Given the description of an element on the screen output the (x, y) to click on. 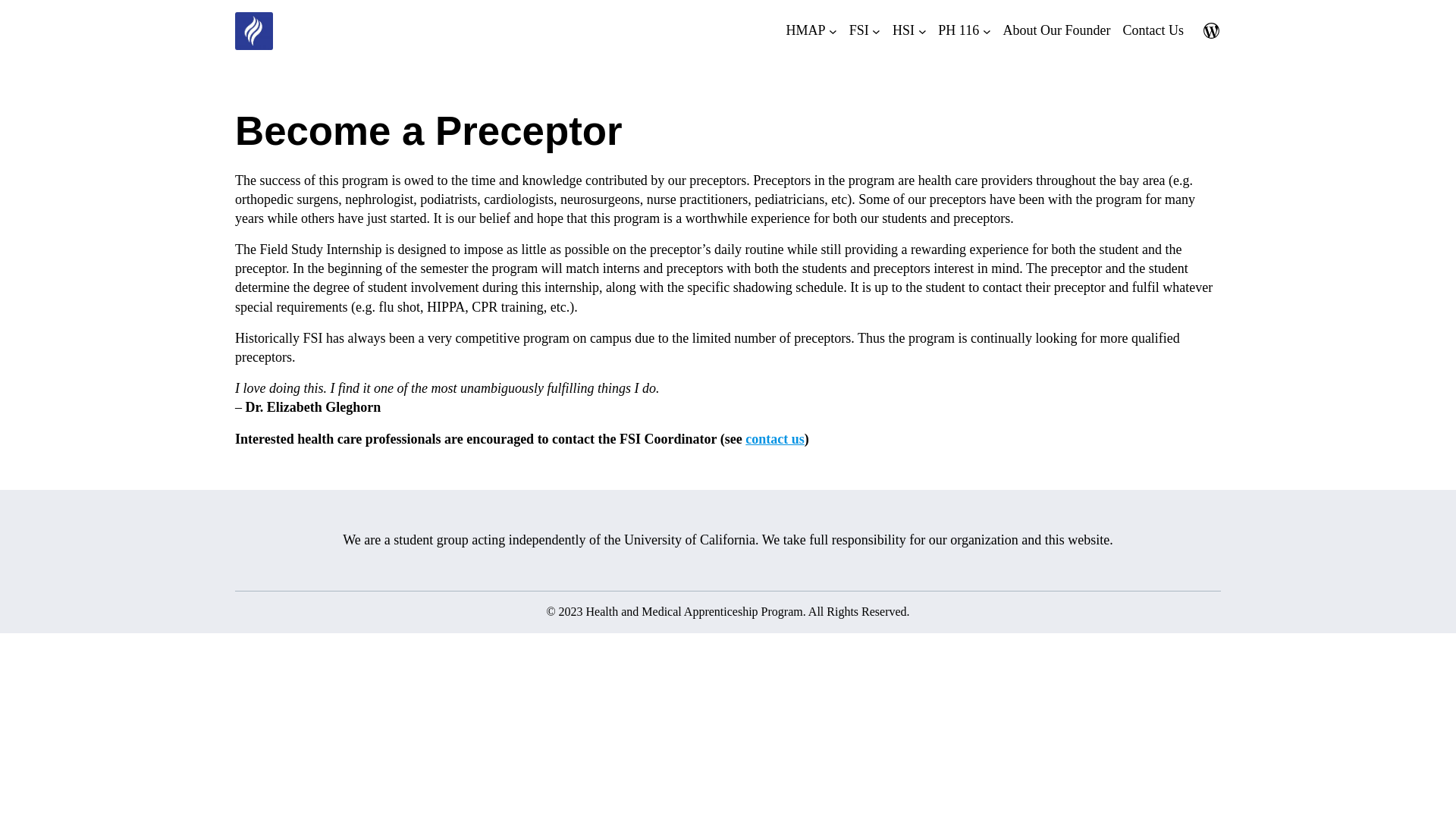
About Our Founder (1056, 30)
WordPress (1211, 30)
PH 116 (957, 30)
HMAP (805, 30)
Contact Us (1152, 30)
Contact Us (775, 438)
contact us (775, 438)
